Given the description of an element on the screen output the (x, y) to click on. 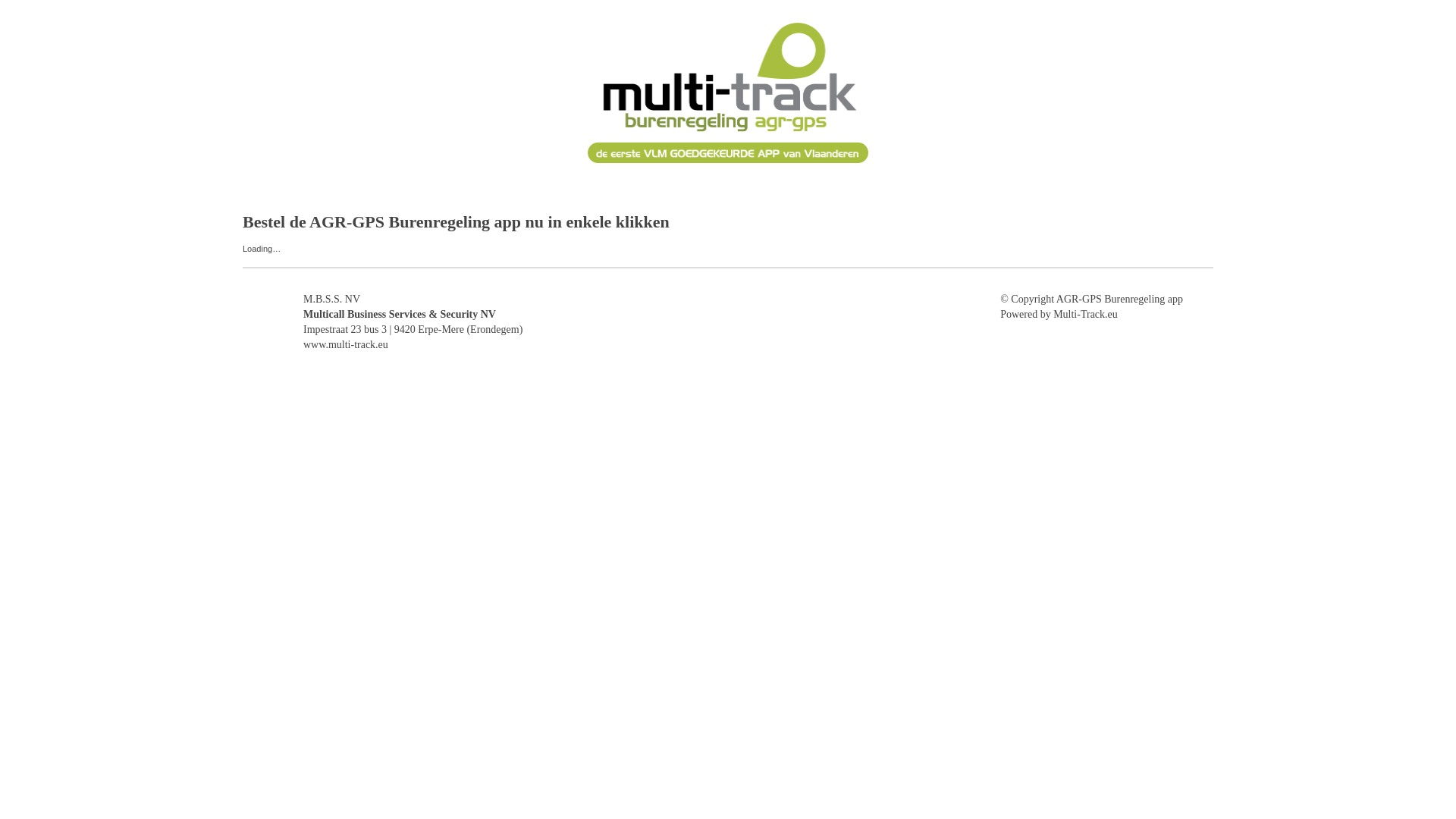
www.multi-track.eu Element type: text (345, 344)
